Given the description of an element on the screen output the (x, y) to click on. 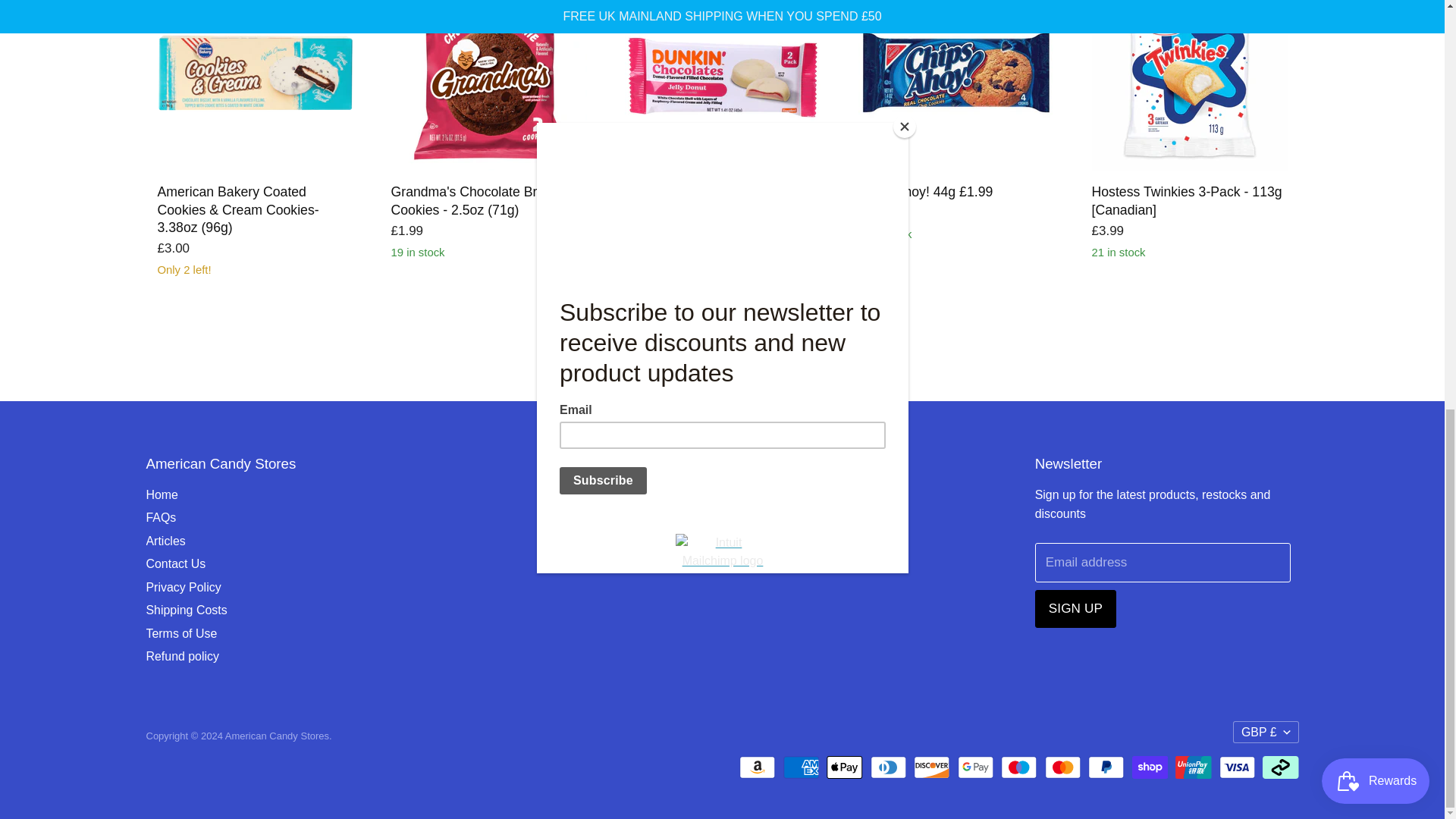
Facebook (601, 495)
Instagram (628, 495)
E-mail (655, 495)
